Given the description of an element on the screen output the (x, y) to click on. 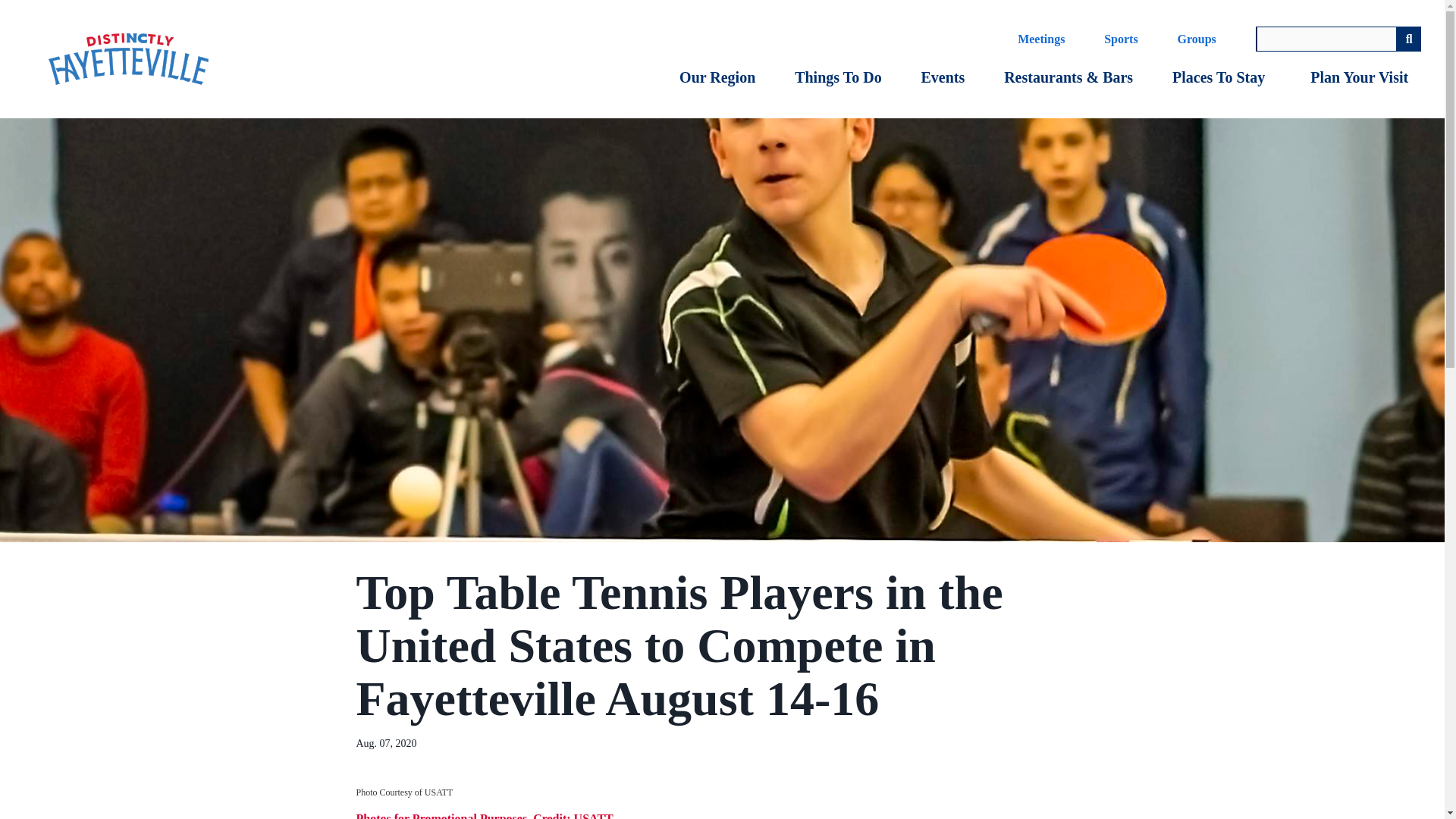
Meetings (1040, 39)
Sports (1120, 39)
Plan Your Visit (1358, 77)
Events (943, 77)
Places To Stay (1218, 77)
Things To Do (838, 77)
Our Region (717, 77)
Groups (1196, 39)
